Given the description of an element on the screen output the (x, y) to click on. 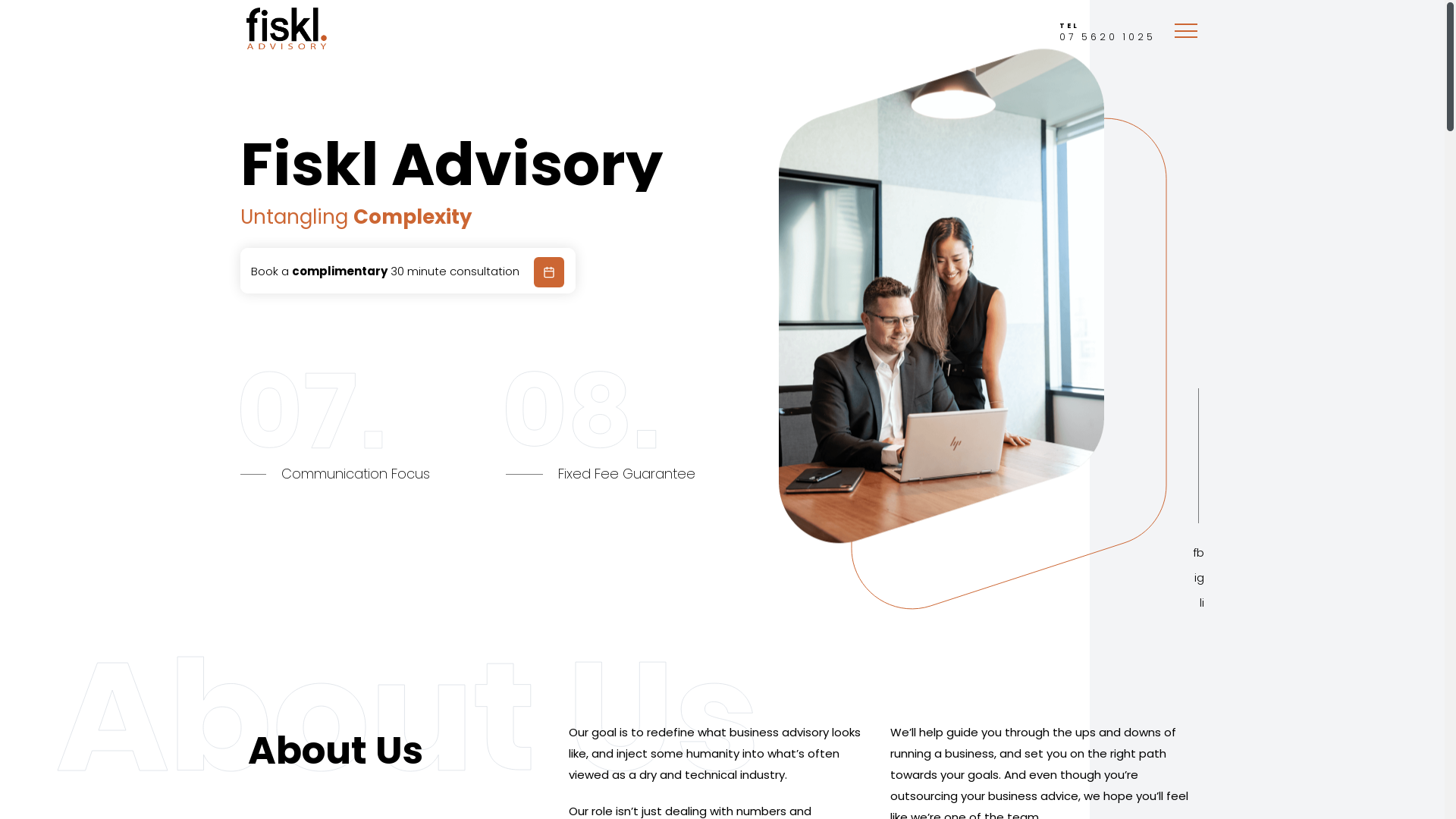
li Element type: text (1198, 602)
Book a complimentary 30 minute consultation Element type: text (406, 270)
TEL
07 5620 1025 Element type: text (1107, 38)
hi-banner-img-1@2x Element type: hover (941, 295)
Fiskl Advisory Element type: hover (285, 47)
fb Element type: text (1198, 551)
ig Element type: text (1198, 576)
